Given the description of an element on the screen output the (x, y) to click on. 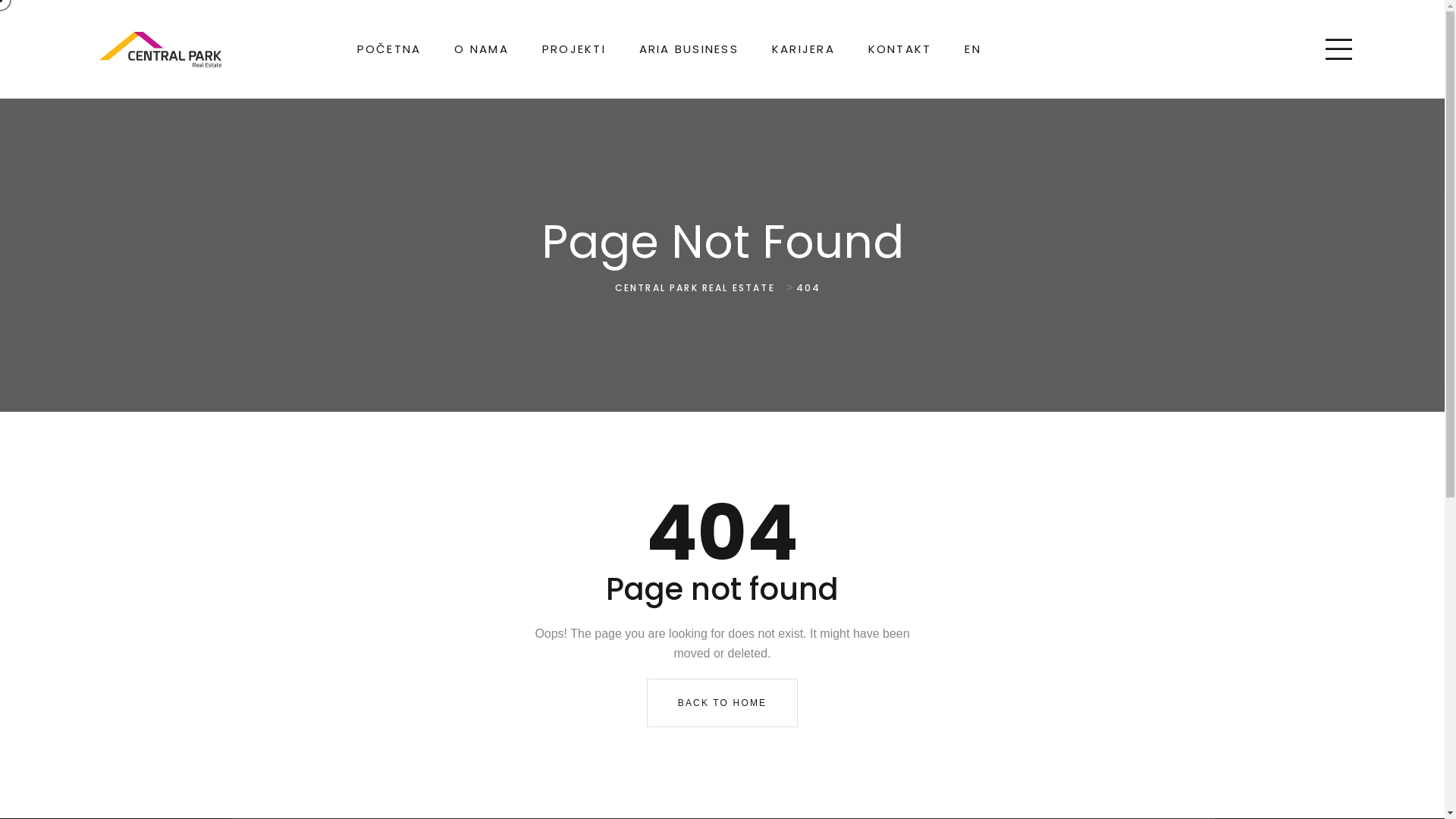
CENTRAL PARK REAL ESTATE Element type: text (697, 287)
KARIJERA Element type: text (802, 49)
EN Element type: text (972, 49)
404 Element type: text (810, 287)
BACK TO HOME Element type: text (722, 702)
PROJEKTI Element type: text (573, 49)
ARIA BUSINESS Element type: text (688, 49)
O NAMA Element type: text (481, 49)
KONTAKT Element type: text (899, 49)
